Given the description of an element on the screen output the (x, y) to click on. 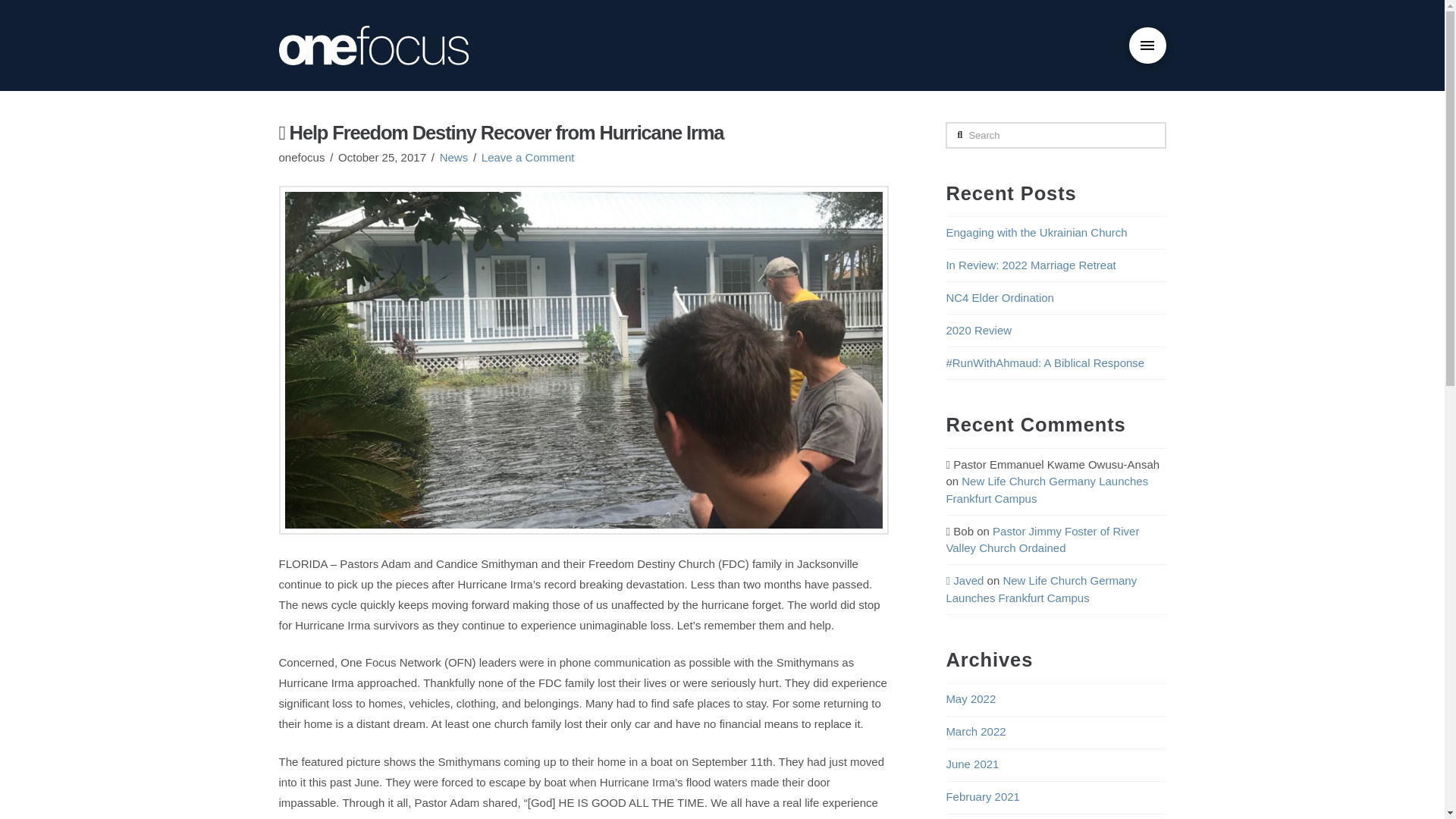
NC4 Elder Ordination (999, 297)
Leave a Comment (528, 156)
In Review: 2022 Marriage Retreat (1029, 264)
Pastor Jimmy Foster of River Valley Church Ordained (1041, 539)
May 2022 (969, 698)
New Life Church Germany Launches Frankfurt Campus (1046, 490)
March 2022 (975, 730)
Javed (964, 580)
New Life Church Germany Launches Frankfurt Campus (1040, 589)
Engaging with the Ukrainian Church (1035, 232)
News (453, 156)
2020 Review (977, 329)
June 2021 (971, 763)
February 2021 (982, 796)
